Given the description of an element on the screen output the (x, y) to click on. 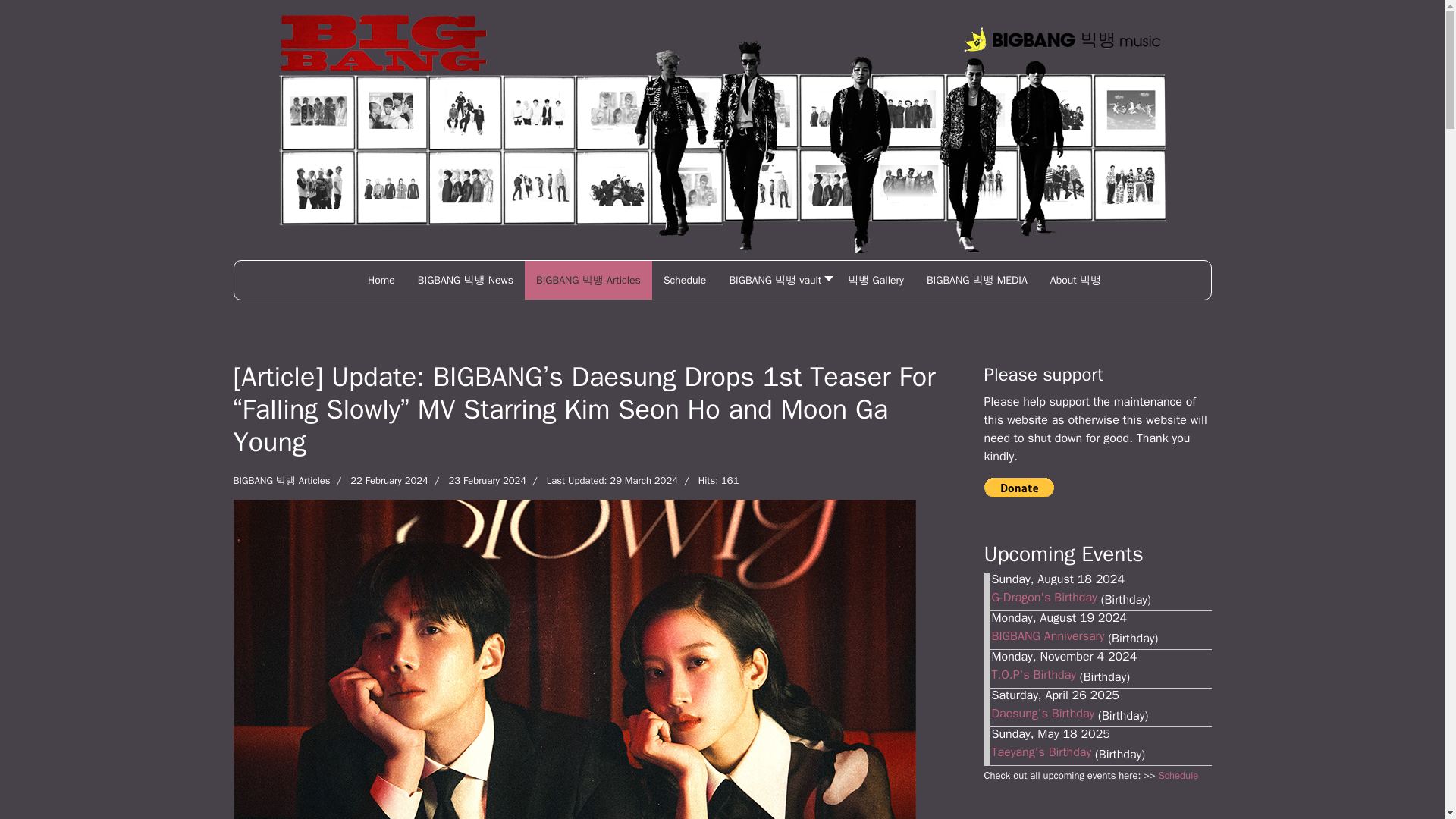
none (381, 280)
PayPal - The safer, easier way to pay online! (1019, 487)
Home (381, 280)
Created: 23 February 2024 (476, 480)
Schedule (684, 280)
Published: 22 February 2024 (379, 480)
